Given the description of an element on the screen output the (x, y) to click on. 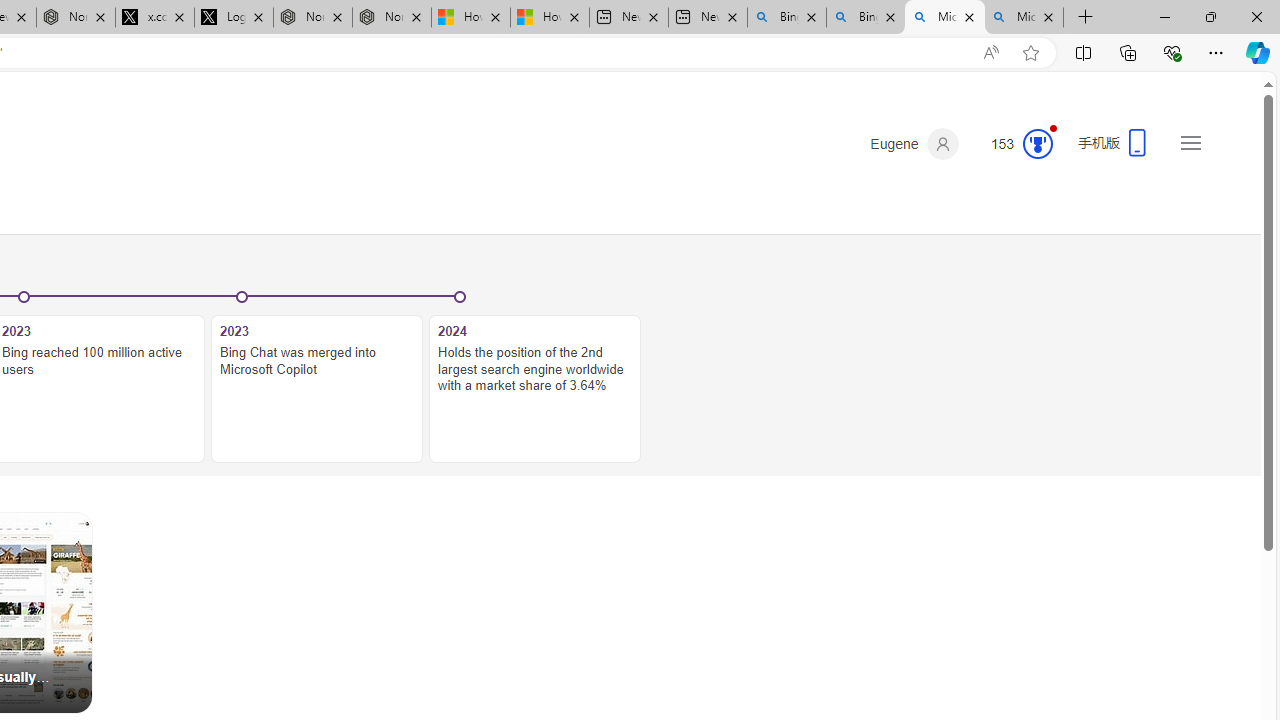
x.com/NordaceOfficial (155, 17)
Log in to X / X (233, 17)
Bing AI - Search (865, 17)
Settings and quick links (1190, 142)
How to Use a Monitor With Your Closed Laptop (549, 17)
